Given the description of an element on the screen output the (x, y) to click on. 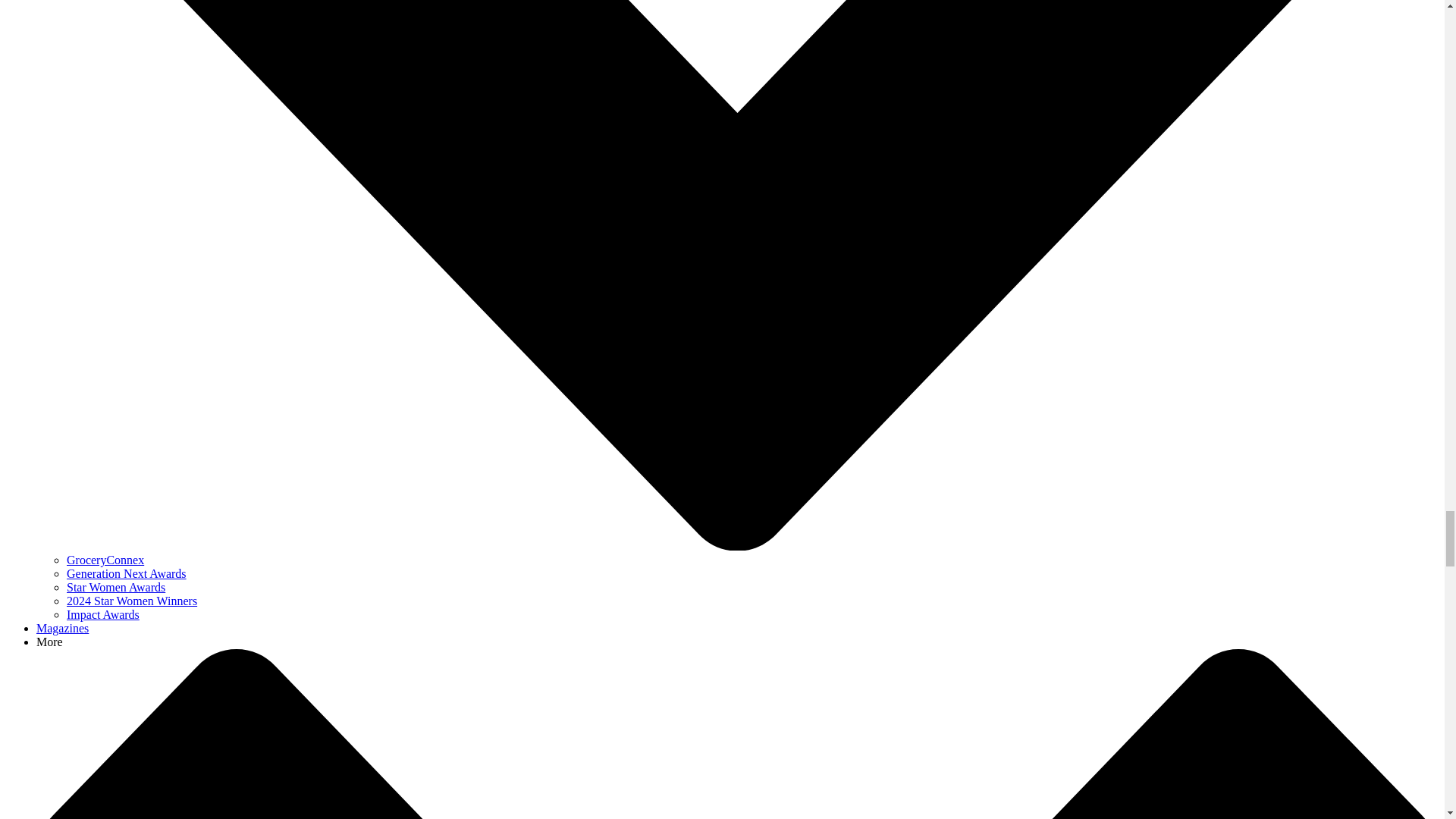
Star Women Awards (115, 586)
GroceryConnex (105, 559)
2024 Star Women Winners (131, 600)
Generation Next Awards (126, 573)
More (49, 641)
Magazines (62, 627)
Impact Awards (102, 614)
